Given the description of an element on the screen output the (x, y) to click on. 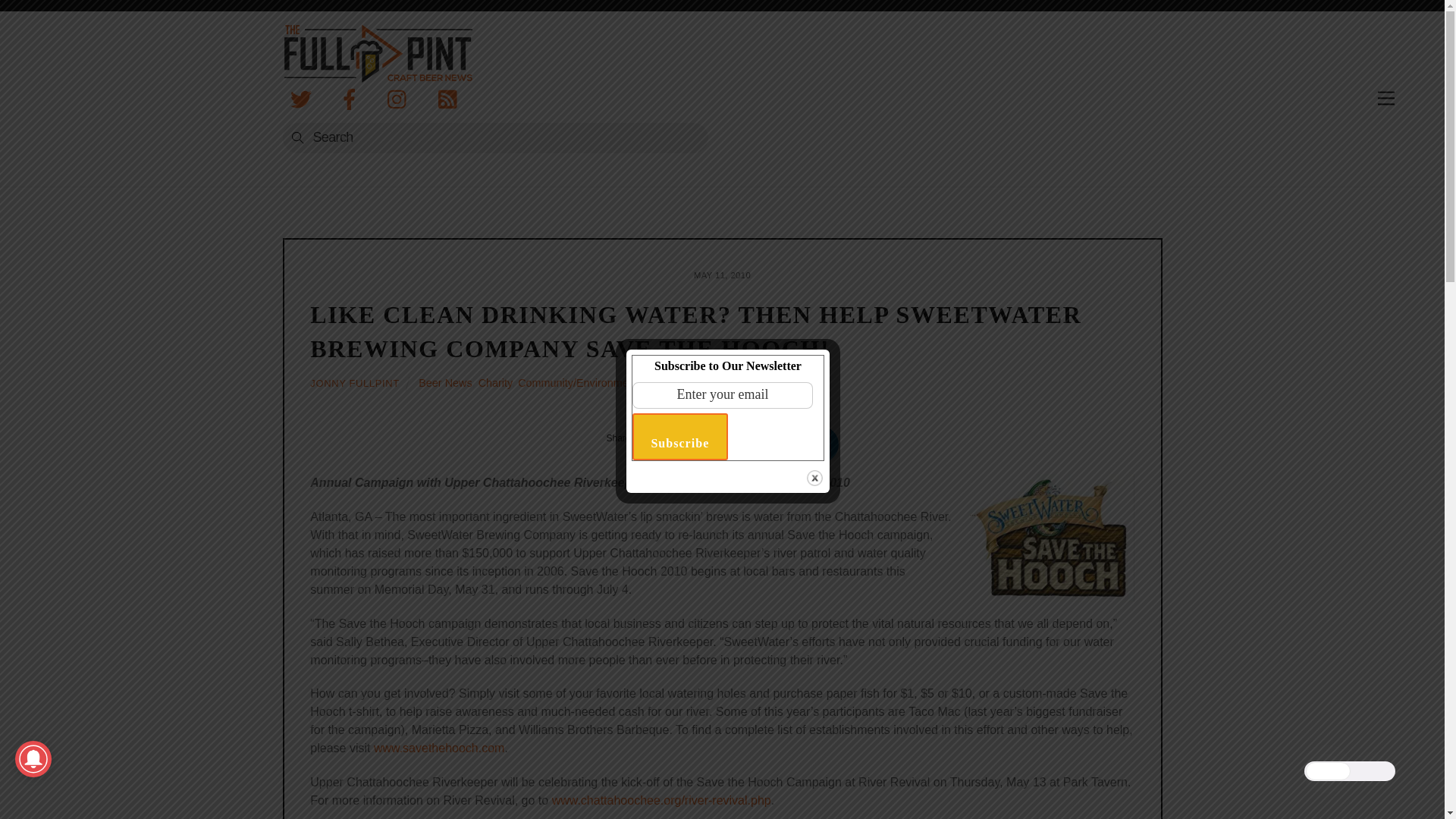
The Full Pint - Craft Beer News (376, 71)
JONNY FULLPINT (354, 383)
Search (494, 137)
Beer News (445, 382)
Charity (495, 382)
The Full Pint - Craft Beer News (376, 53)
SweetWater Brewing - Save The Hooch (1048, 537)
Menu (1385, 98)
SweetWater Brewing (694, 382)
